Given the description of an element on the screen output the (x, y) to click on. 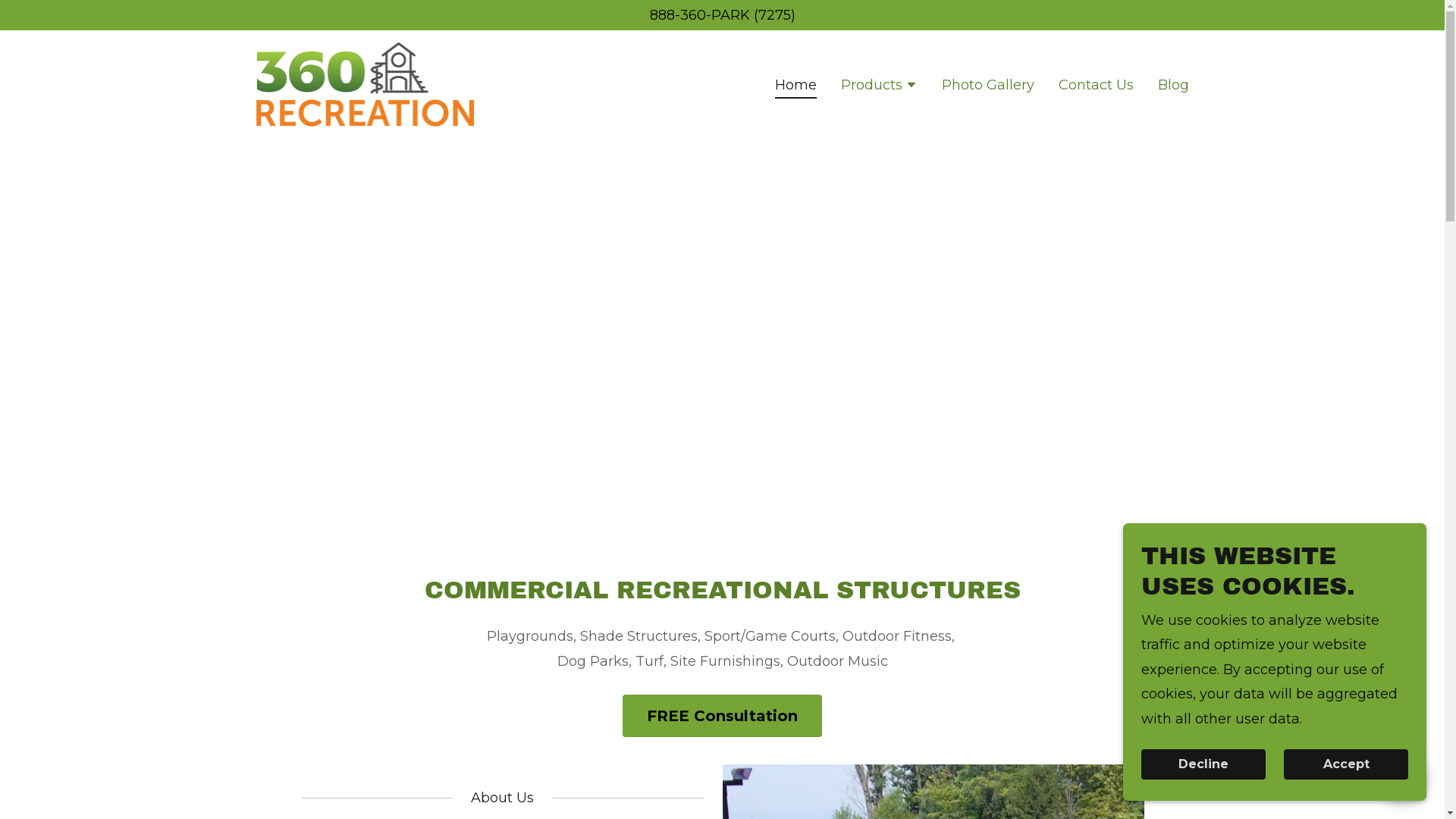
Accept Element type: text (1345, 764)
FREE Consultation Element type: text (722, 715)
(7275 Element type: text (771, 14)
888-360 Element type: text (677, 14)
360 Recreation Element type: hover (363, 83)
Photo Gallery Element type: text (987, 84)
Products Element type: text (878, 86)
Blog Element type: text (1173, 84)
Home Element type: text (795, 86)
Decline Element type: text (1203, 764)
Contact Us Element type: text (1096, 84)
